Given the description of an element on the screen output the (x, y) to click on. 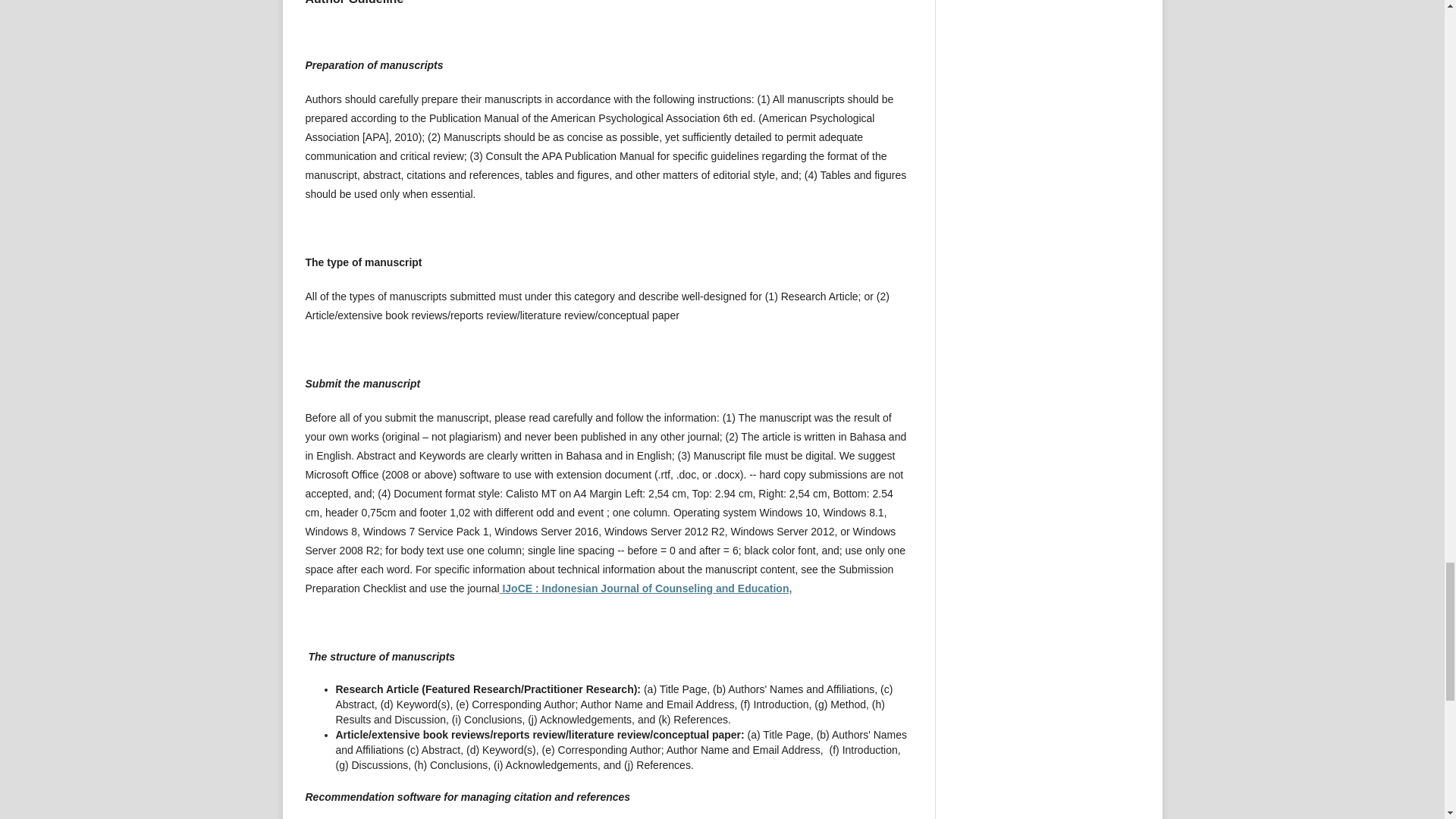
 IJoCE : Indonesian Journal of Counseling and Education, (645, 588)
